Given the description of an element on the screen output the (x, y) to click on. 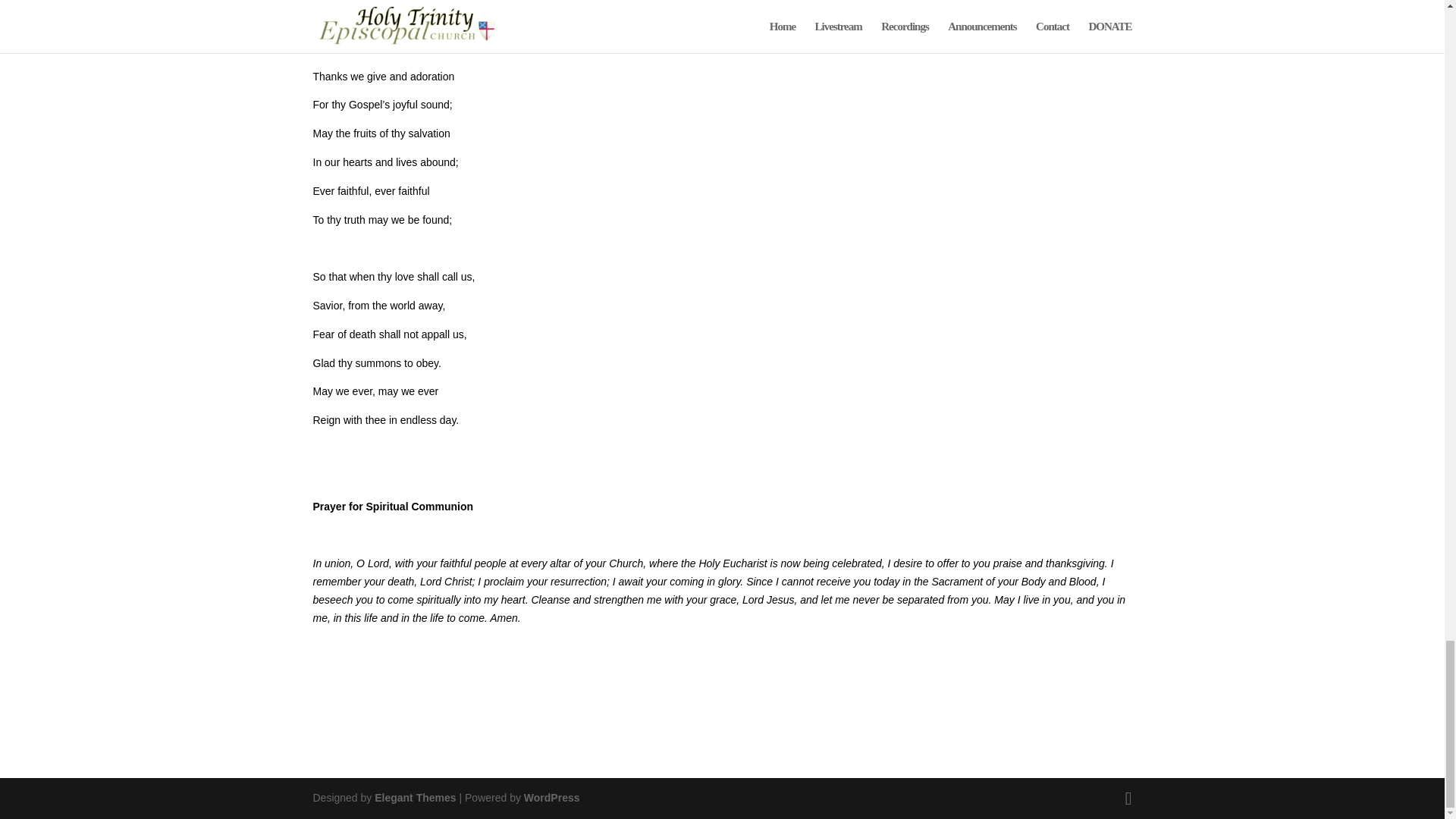
Premium WordPress Themes (414, 797)
Elegant Themes (414, 797)
WordPress (551, 797)
